Given the description of an element on the screen output the (x, y) to click on. 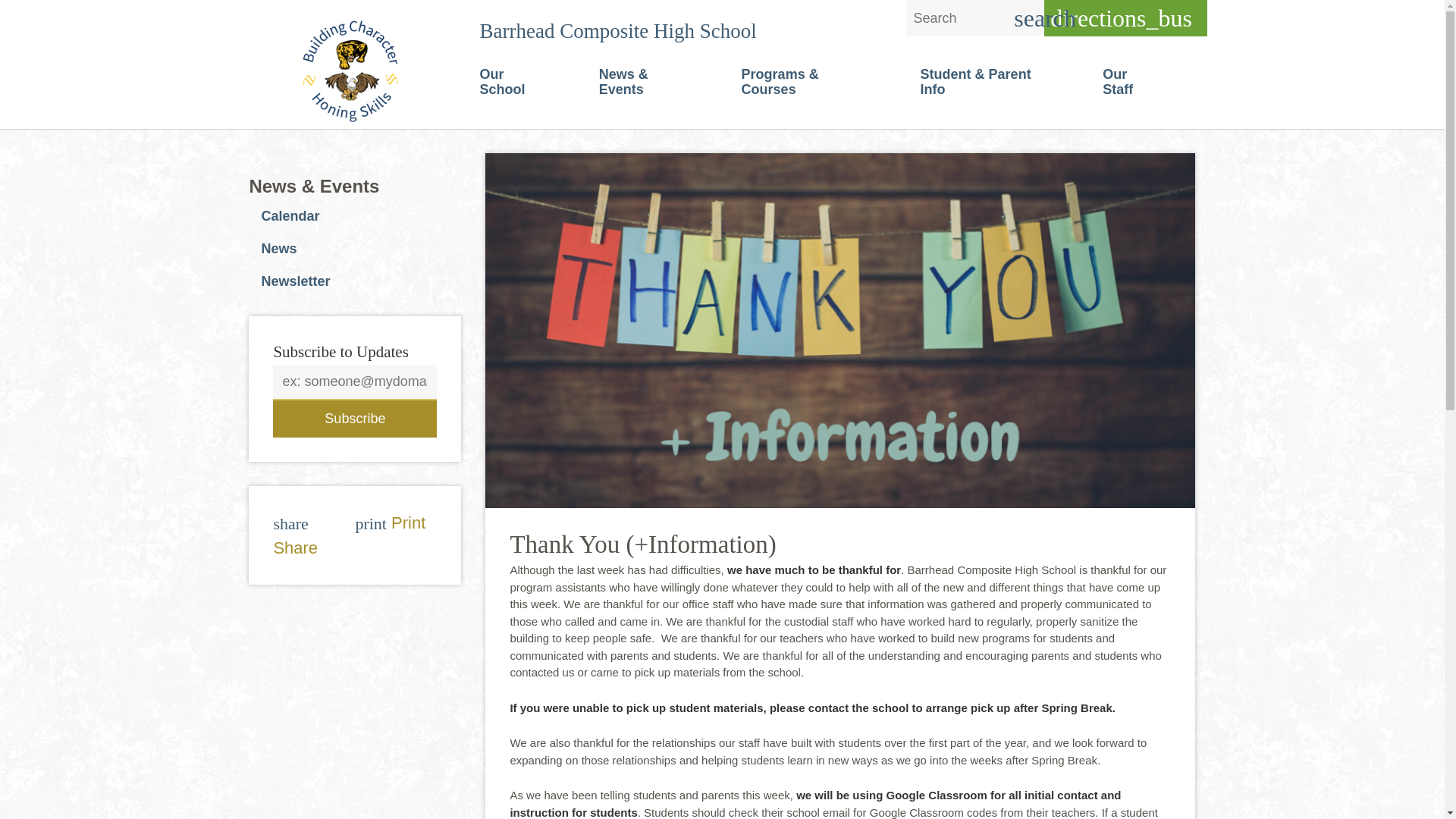
Barrhead Composite High School (357, 71)
Our School (514, 83)
Barrhead Composite High School (351, 71)
Our Staff (1130, 83)
Subscribe (354, 418)
Barrhead Composite High School (617, 30)
Barrhead Composite High School (617, 30)
